Given the description of an element on the screen output the (x, y) to click on. 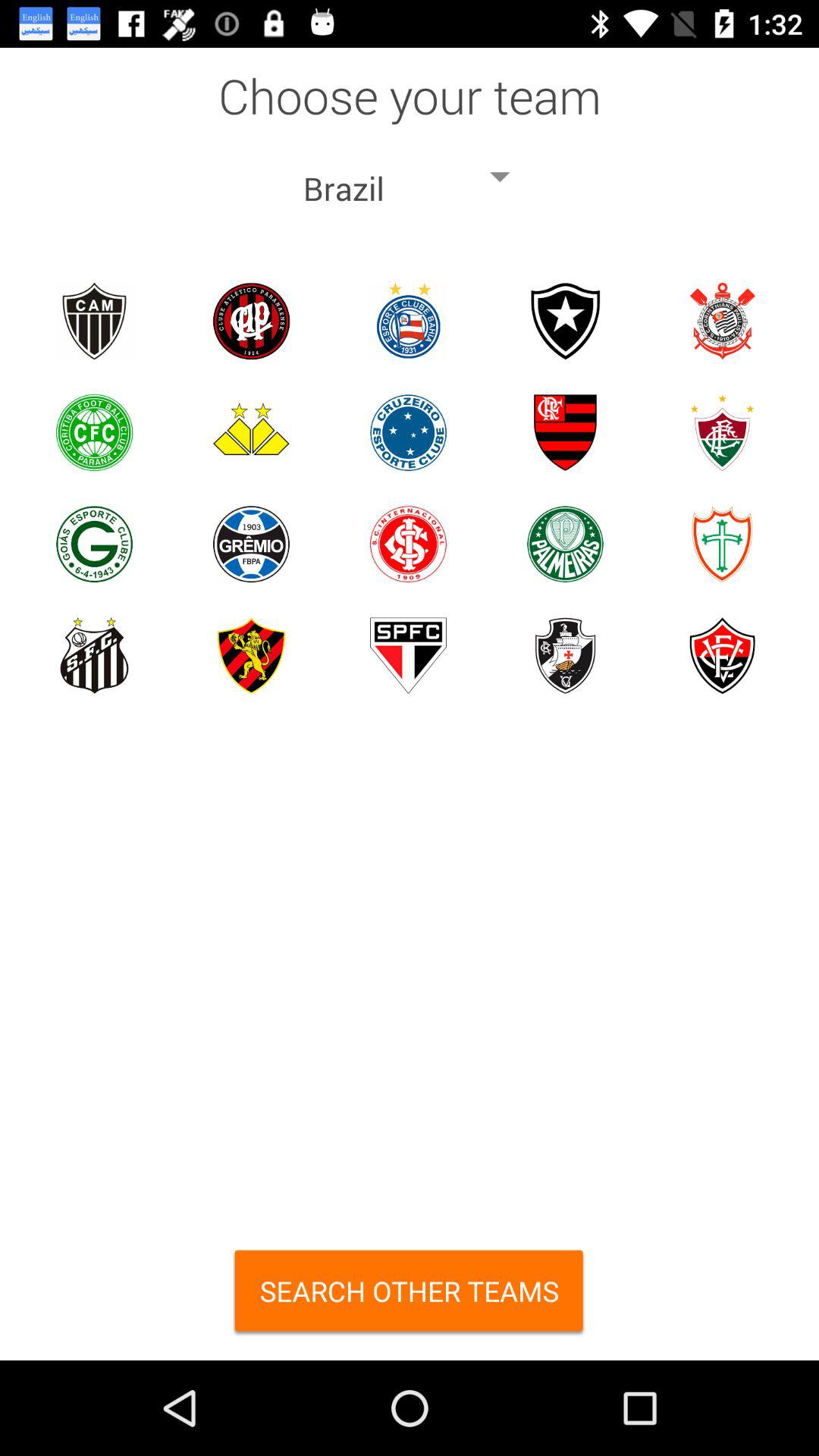
select esporte clube bahia (408, 321)
